Given the description of an element on the screen output the (x, y) to click on. 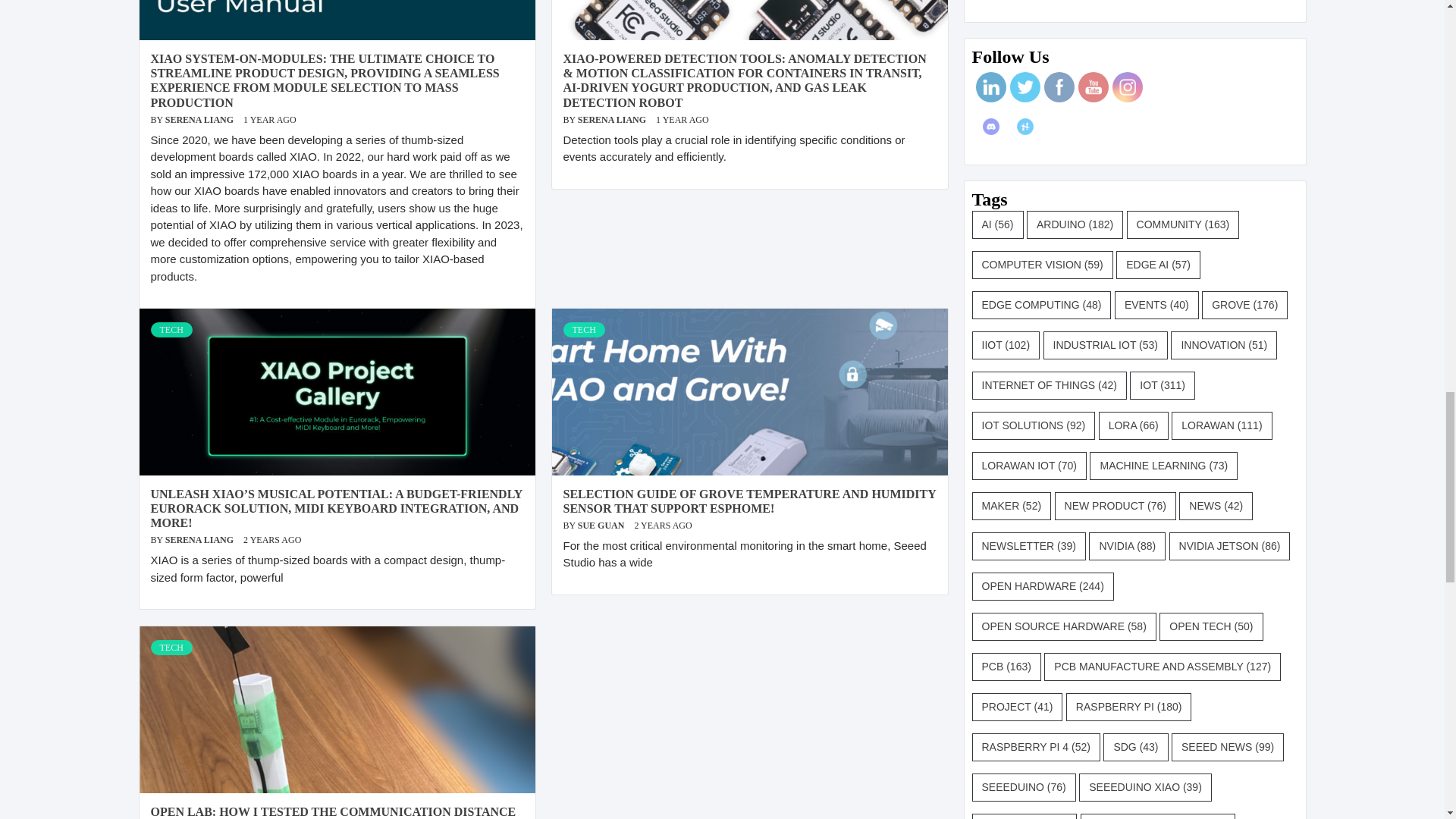
LinkedIn (990, 86)
Twitter (1024, 86)
Instagram (1127, 86)
Facebook (1059, 86)
